Given the description of an element on the screen output the (x, y) to click on. 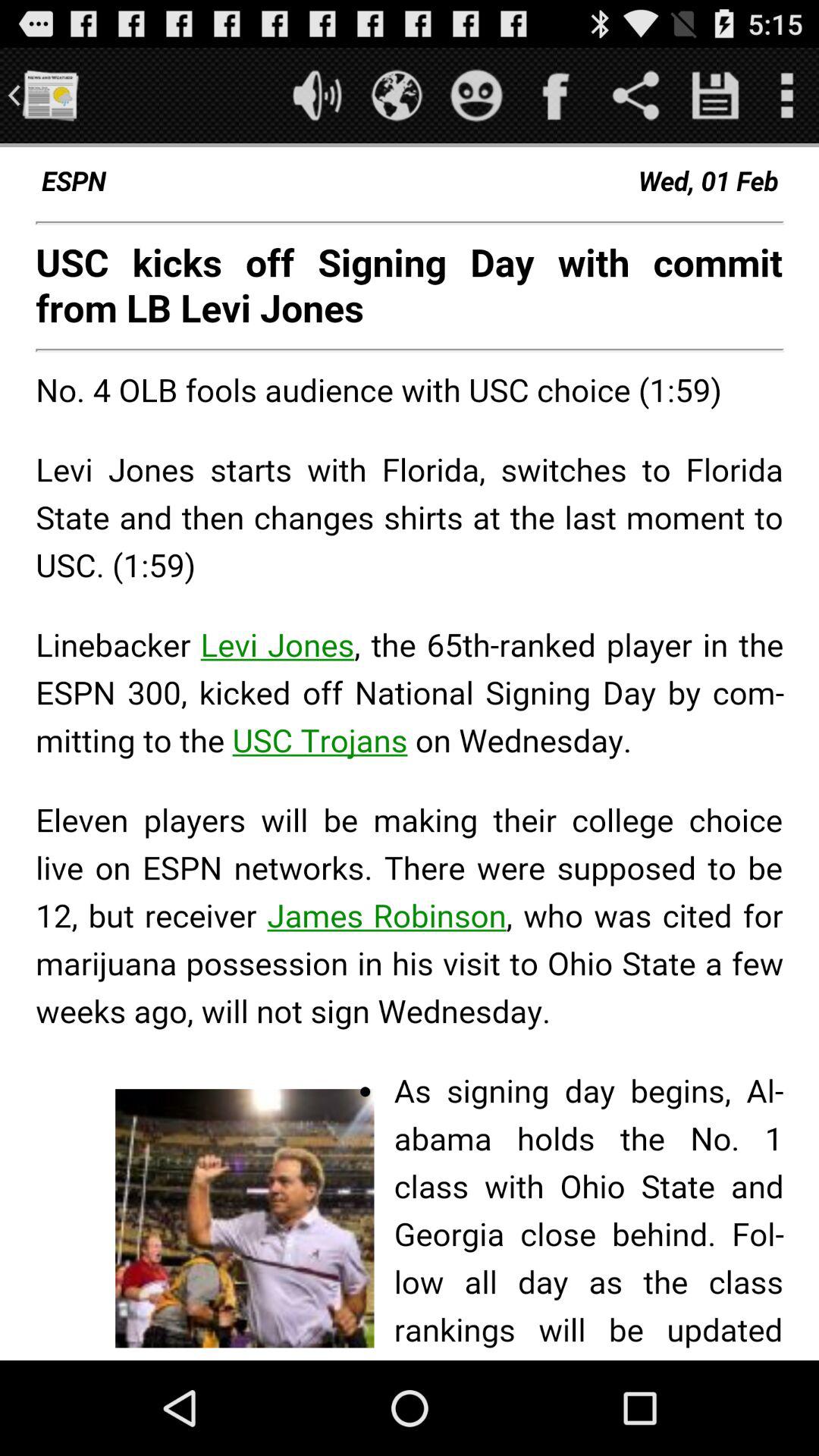
sound option (317, 95)
